Given the description of an element on the screen output the (x, y) to click on. 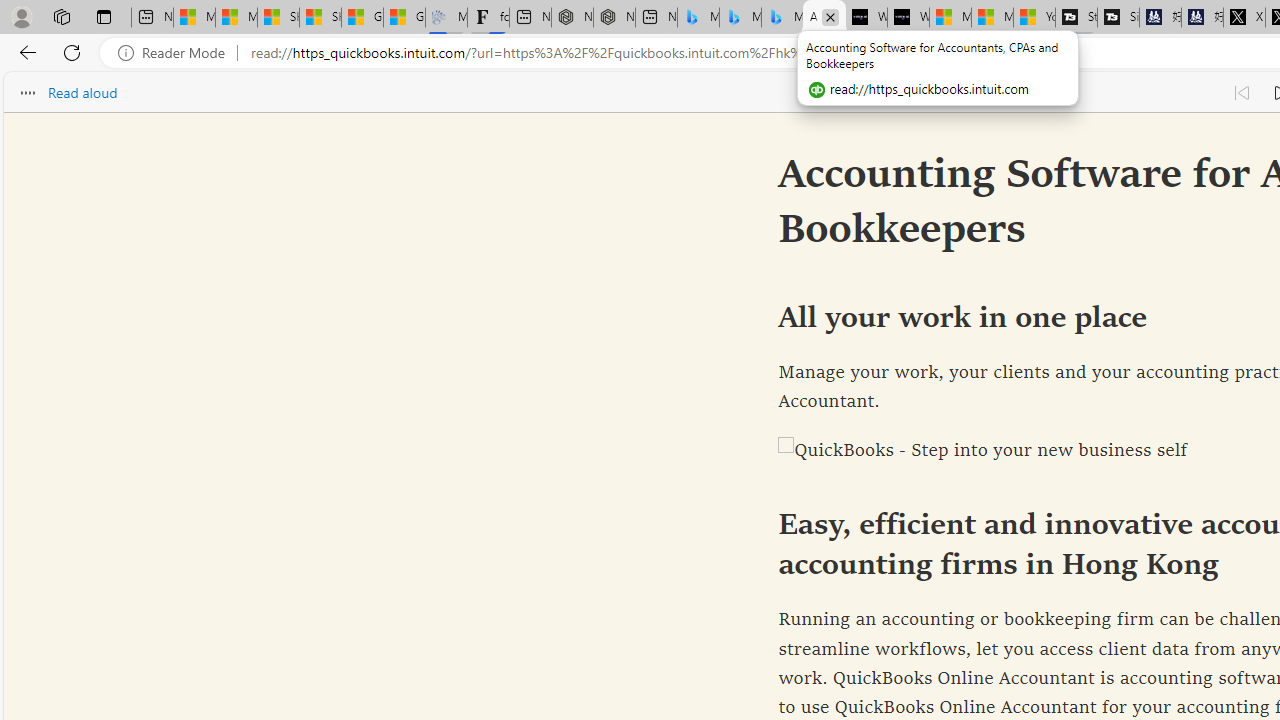
Microsoft Bing Travel - Stays in Bangkok, Bangkok, Thailand (740, 17)
